Given the description of an element on the screen output the (x, y) to click on. 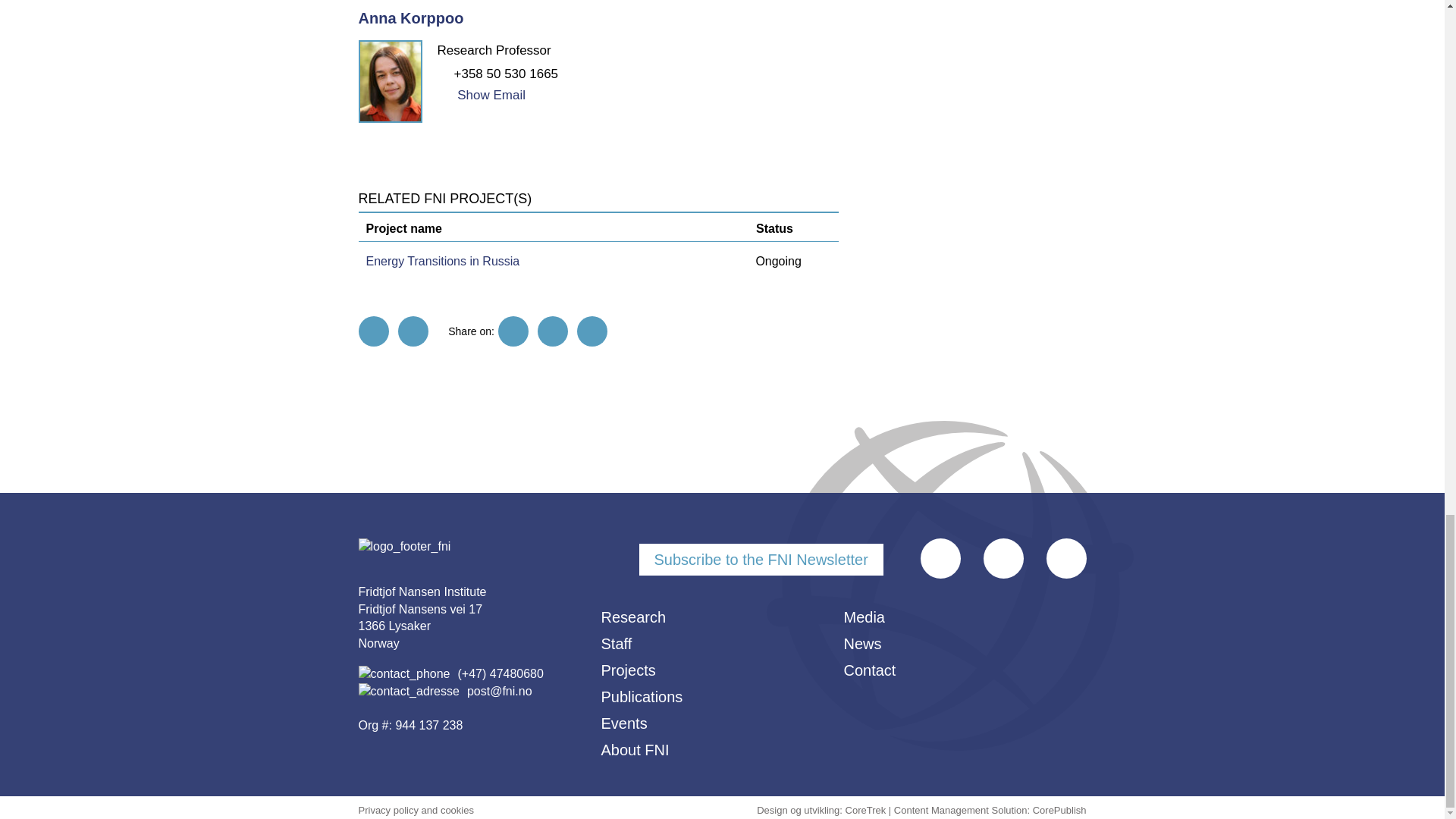
Show Email (480, 94)
Subscribe to the FNI Newsletter (760, 559)
Anna Korppoo (410, 17)
Energy Transitions in Russia (442, 260)
